Given the description of an element on the screen output the (x, y) to click on. 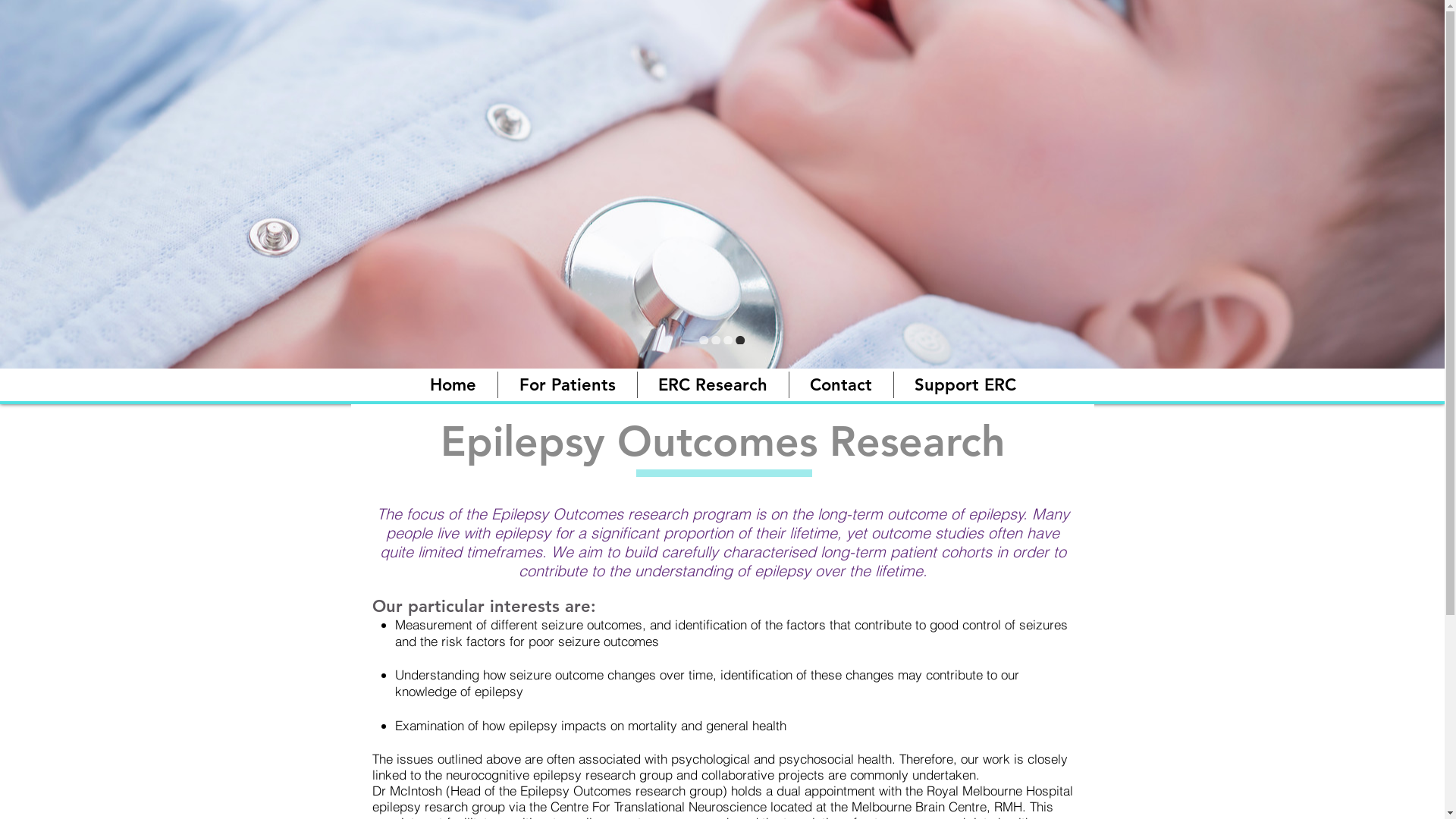
For Patients Element type: text (566, 384)
Home Element type: text (451, 384)
Contact Element type: text (840, 384)
Support ERC Element type: text (964, 384)
ERC Research Element type: text (712, 384)
neurocognitive epilepsy research group Element type: text (558, 774)
